Given the description of an element on the screen output the (x, y) to click on. 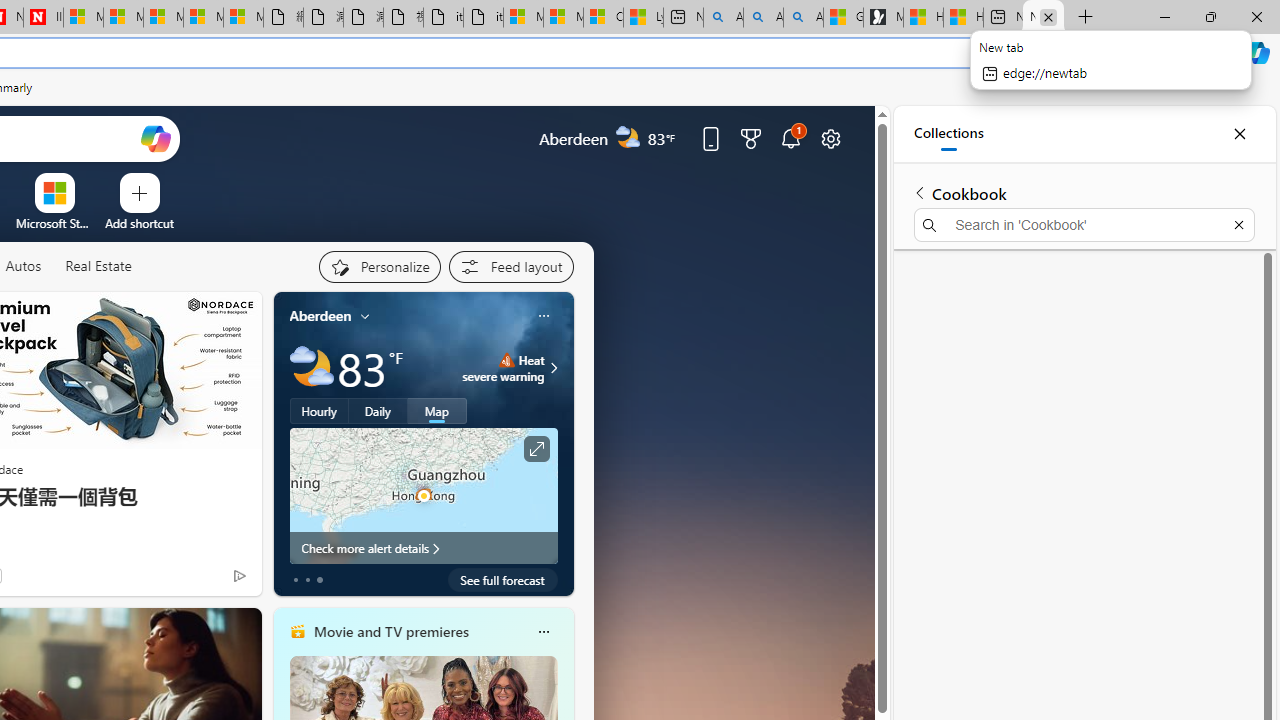
Map (437, 411)
Exit search (1238, 224)
Alabama high school quarterback dies - Search Videos (803, 17)
Check more alert details (423, 547)
See full forecast (502, 579)
Partly cloudy (311, 368)
Add a site (139, 223)
tab-0 (295, 579)
Microsoft Start Gaming (883, 17)
Larger map  (423, 495)
